Given the description of an element on the screen output the (x, y) to click on. 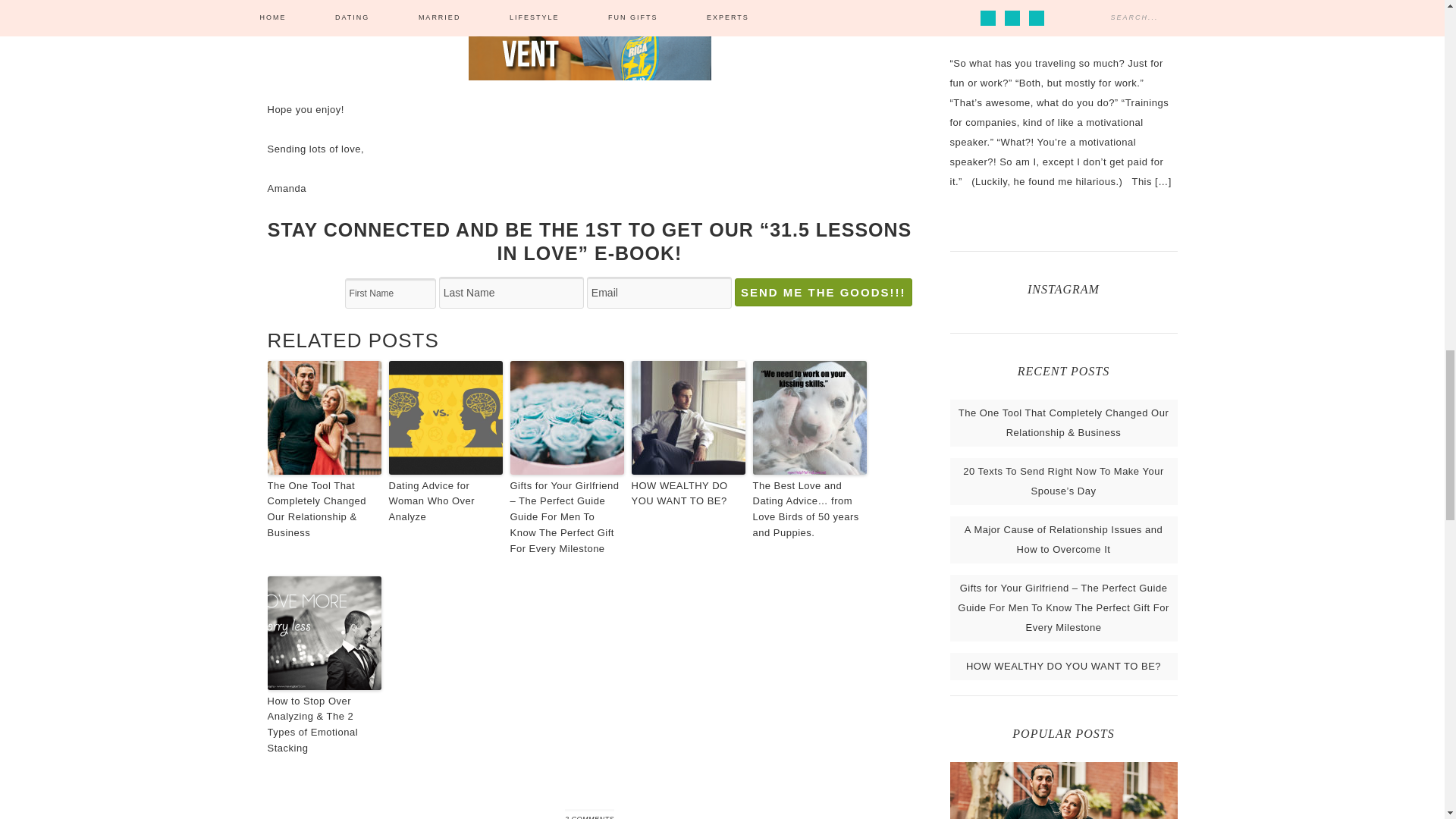
First Name (390, 293)
Dating Advice for Woman Who Over Analyze (445, 501)
Last Name (511, 292)
SEND ME THE GOODS!!! (823, 292)
Email (659, 292)
Get More Love (588, 48)
